Given the description of an element on the screen output the (x, y) to click on. 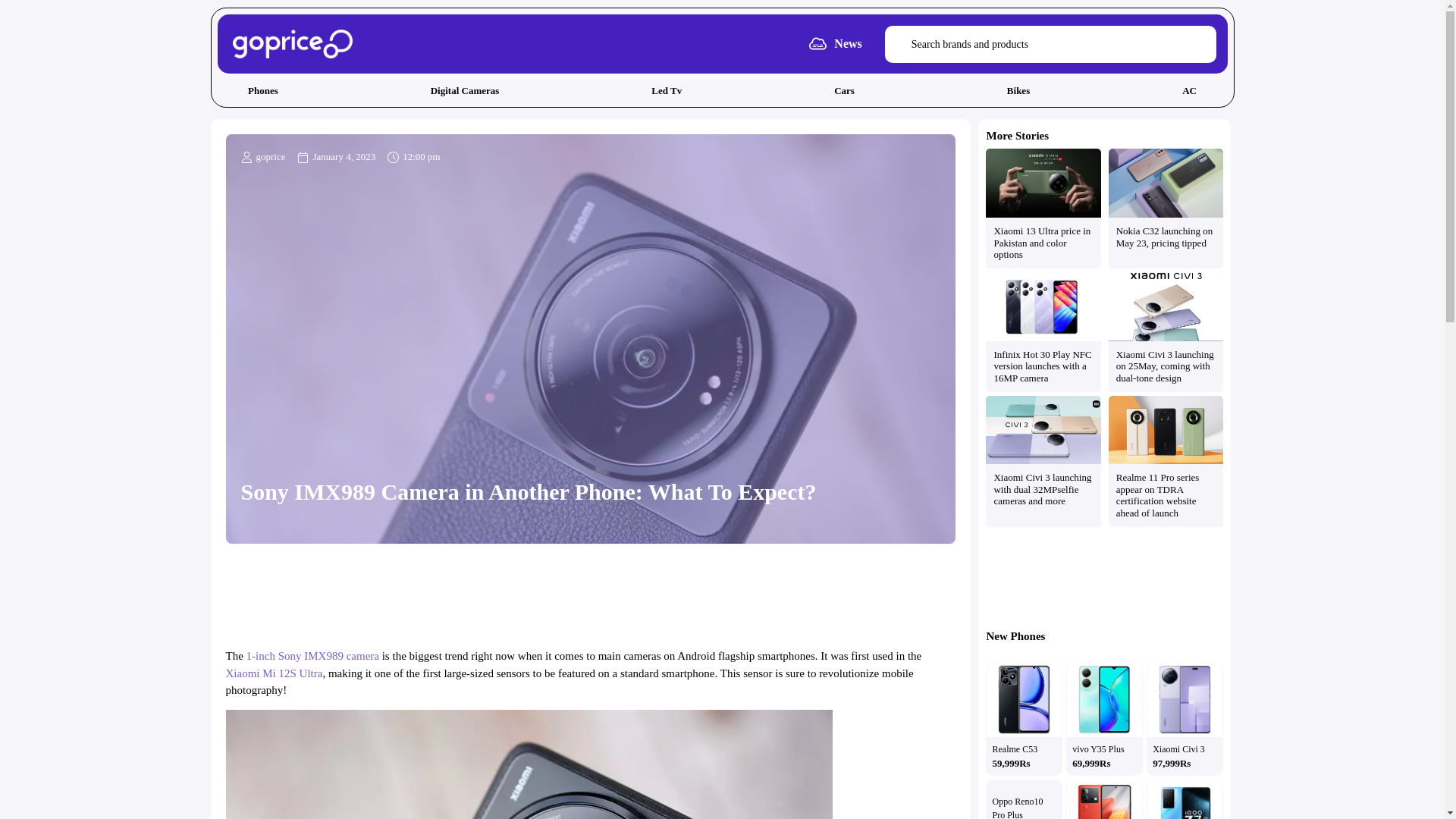
Cars (845, 90)
Led Tv (666, 90)
News (847, 42)
Xiaomi 13 Ultra price in Pakistan and color options (1041, 242)
AC (1190, 90)
Infinix Hot 30 Play NFC version launches with a 16MP camera (1041, 366)
Phones (262, 90)
Advertisement (1104, 576)
Advertisement (590, 592)
Xiaomi Mi 12S Ultra (274, 673)
Digital Cameras (464, 90)
goprice (263, 156)
Bikes (1017, 90)
January 4, 2023 (336, 156)
